Given the description of an element on the screen output the (x, y) to click on. 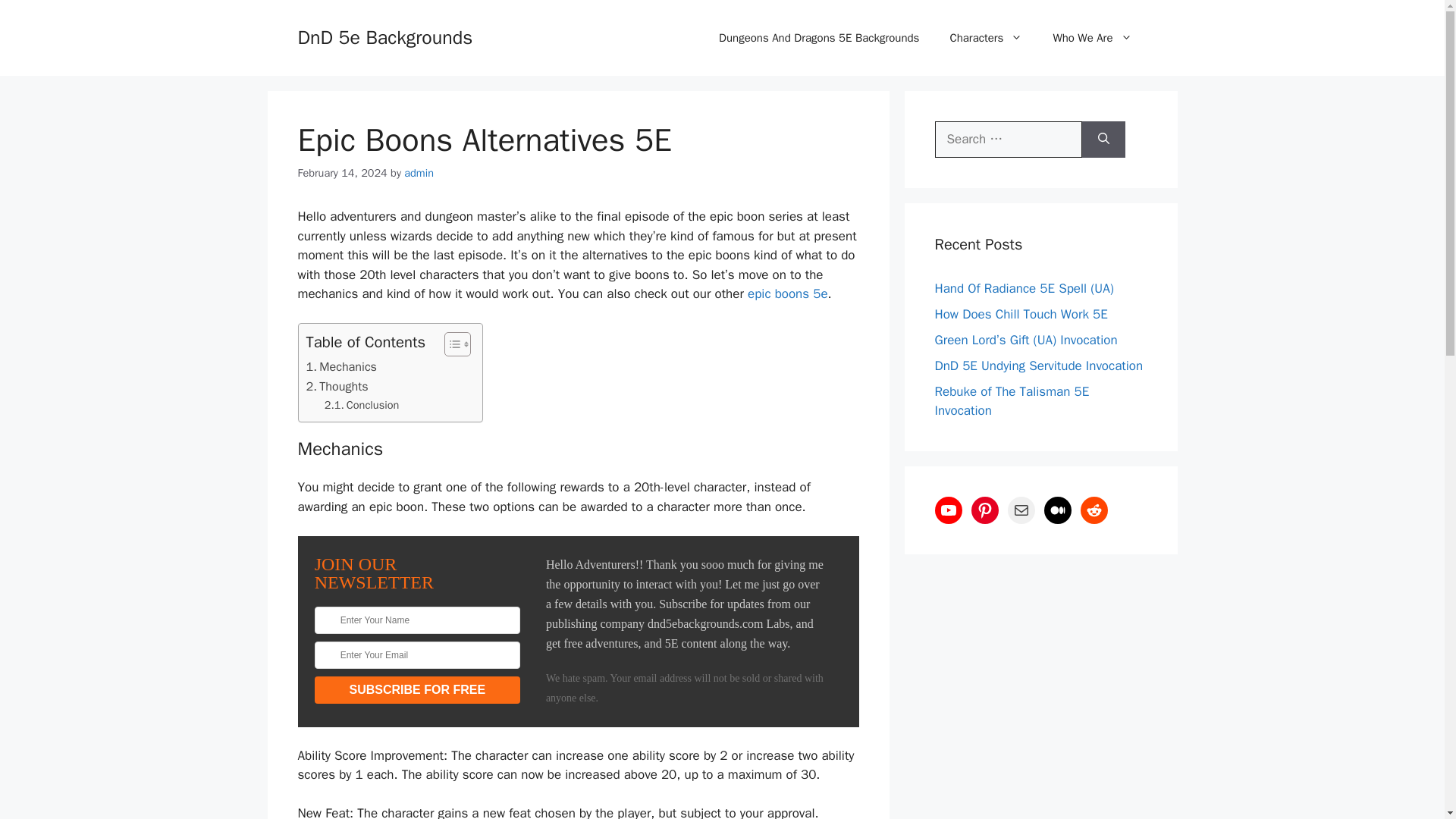
How Does Chill Touch Work 5E (1020, 314)
SUBSCRIBE FOR FREE (416, 689)
Who We Are (1091, 37)
Conclusion (361, 405)
SUBSCRIBE FOR FREE (416, 689)
Thoughts (336, 386)
DnD 5E Undying Servitude Invocation (1038, 365)
Search for: (1007, 139)
Rebuke of The Talisman 5E Invocation (1011, 401)
Mechanics (341, 366)
DnD 5e Backgrounds (384, 37)
epic boons 5e (788, 293)
admin (418, 172)
Characters (985, 37)
Dungeons And Dragons 5E Backgrounds (818, 37)
